Given the description of an element on the screen output the (x, y) to click on. 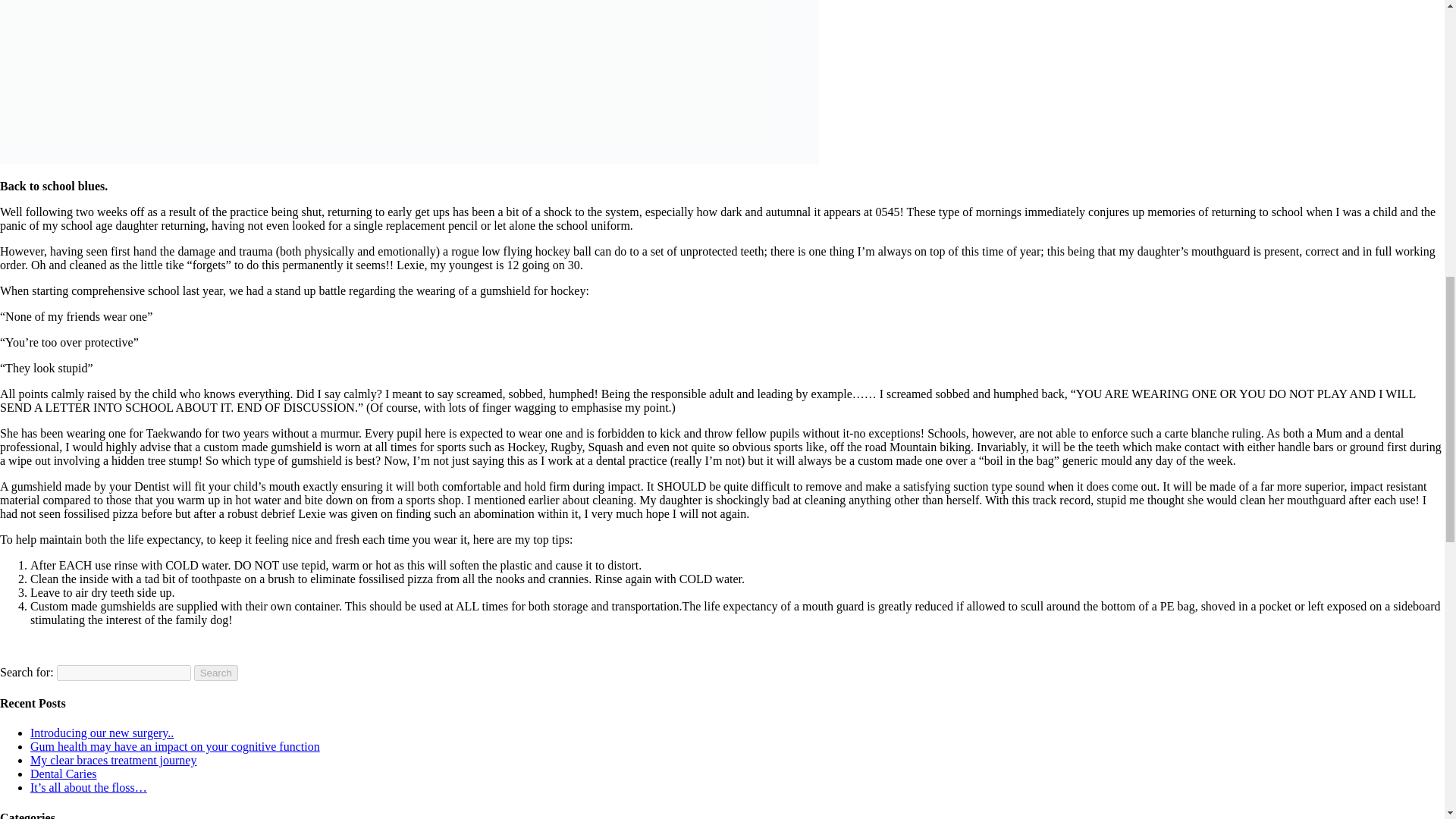
Search (215, 672)
Introducing our new surgery.. (101, 732)
Gum health may have an impact on your cognitive function (175, 746)
My clear braces treatment journey (113, 759)
Search (215, 672)
Dental Caries (63, 773)
